Given the description of an element on the screen output the (x, y) to click on. 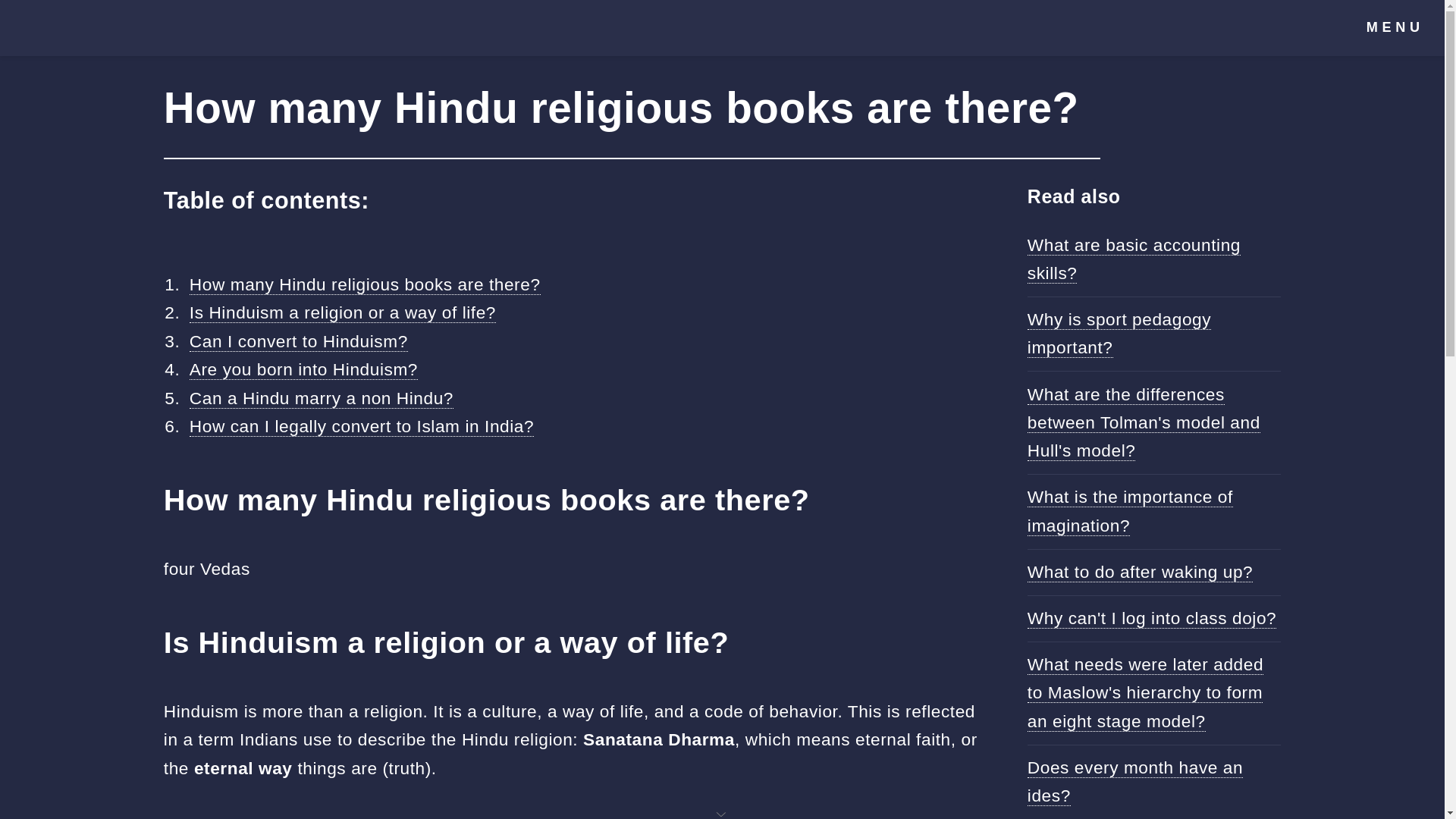
What to do after waking up? (1139, 571)
Are you born into Hinduism? (303, 369)
What are basic accounting skills? (1133, 259)
Why can't I log into class dojo? (1151, 618)
Does every month have an ides? (1135, 781)
Is Hinduism a religion or a way of life? (342, 312)
Can I convert to Hinduism? (298, 341)
How can I legally convert to Islam in India? (361, 426)
How many Hindu religious books are there? (364, 284)
What is the importance of imagination? (1130, 510)
Can a Hindu marry a non Hindu? (320, 398)
Why is sport pedagogy important? (1119, 333)
Ad.Plus Advertising (722, 813)
